Given the description of an element on the screen output the (x, y) to click on. 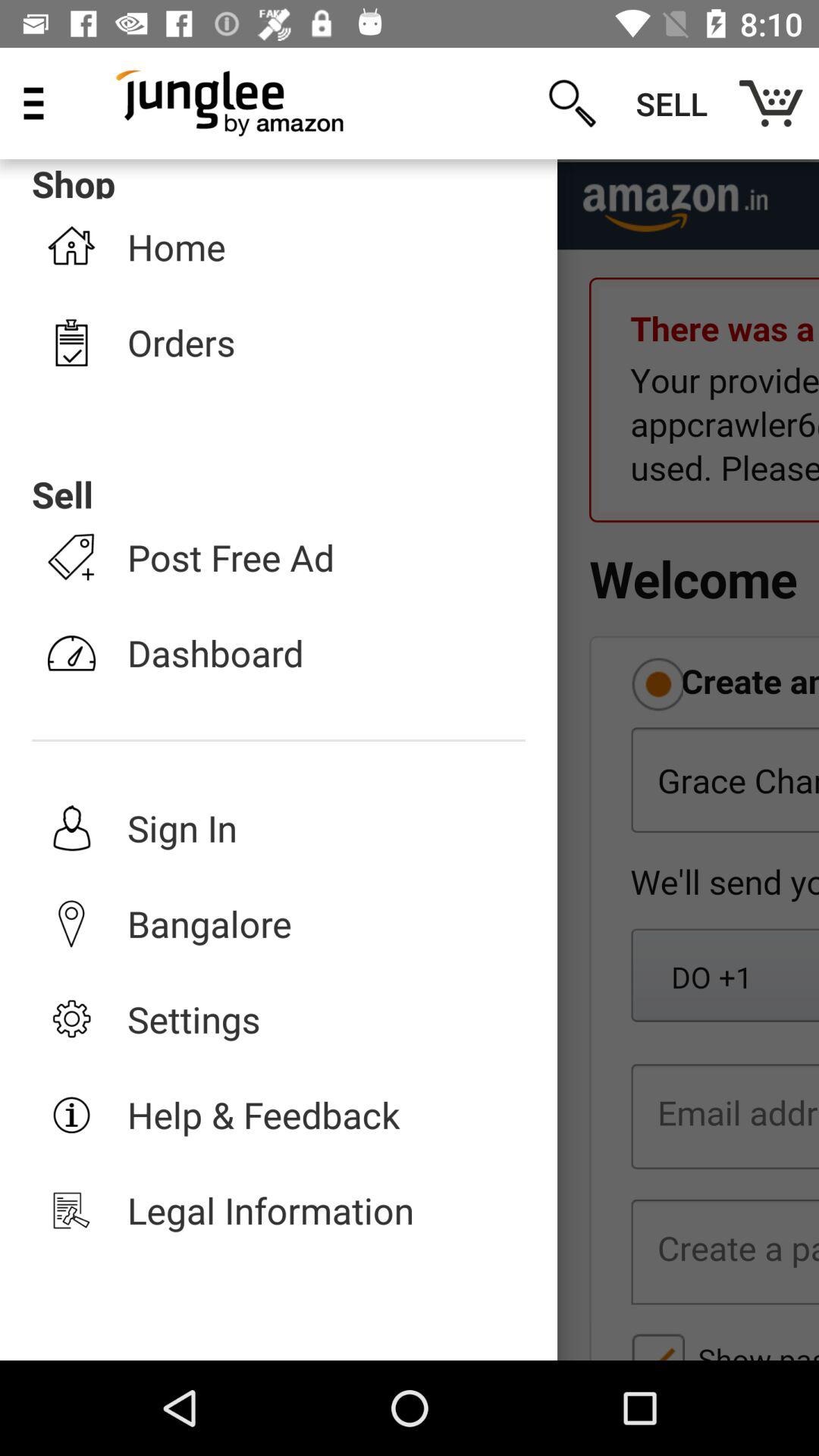
open the item to the right of the sell item (771, 103)
